Given the description of an element on the screen output the (x, y) to click on. 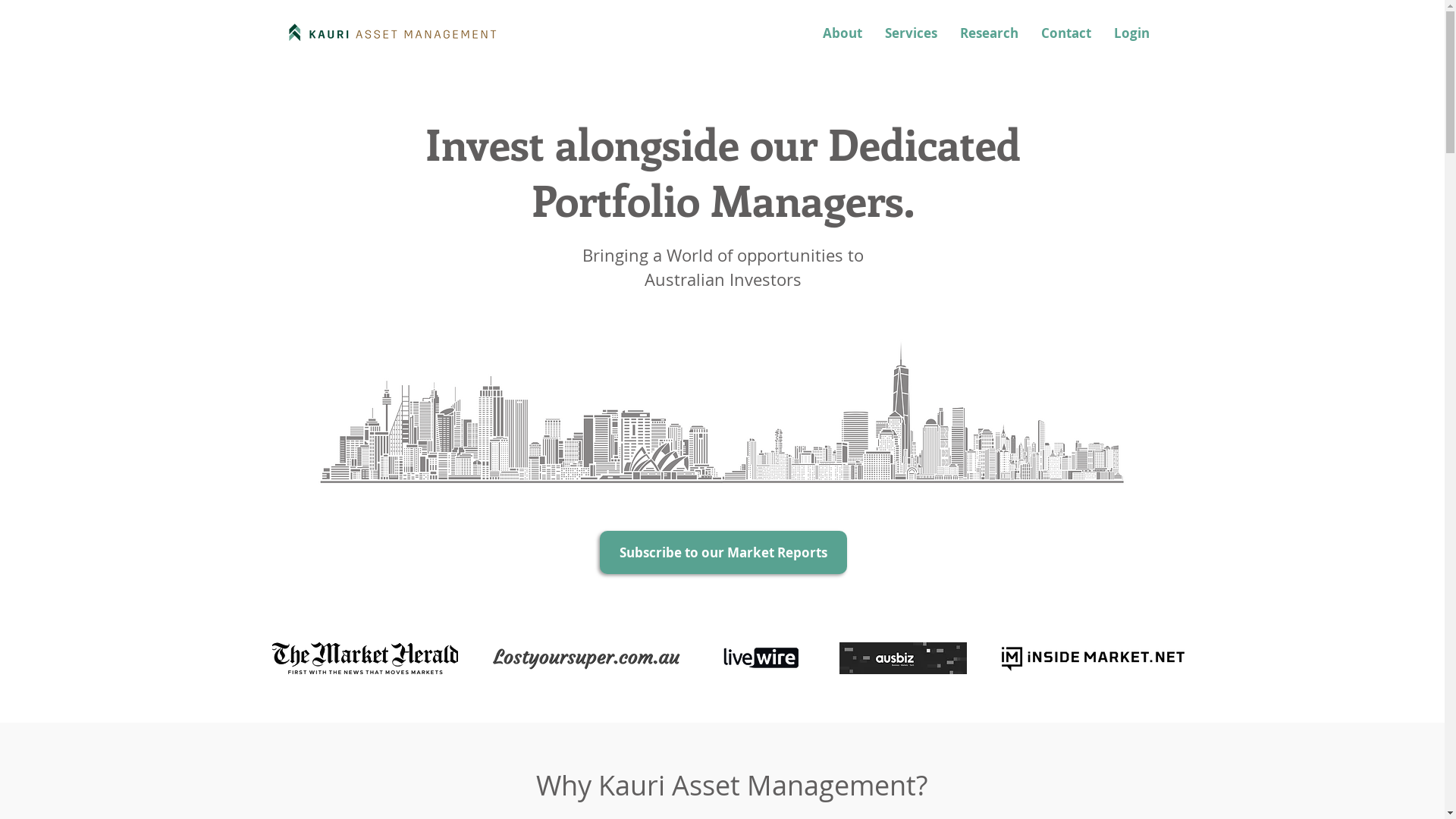
Contact Element type: text (1065, 33)
Research Element type: text (988, 33)
Subscribe to our Market Reports Element type: text (722, 552)
About Element type: text (842, 33)
Services Element type: text (910, 33)
Login Element type: text (1131, 33)
